Given the description of an element on the screen output the (x, y) to click on. 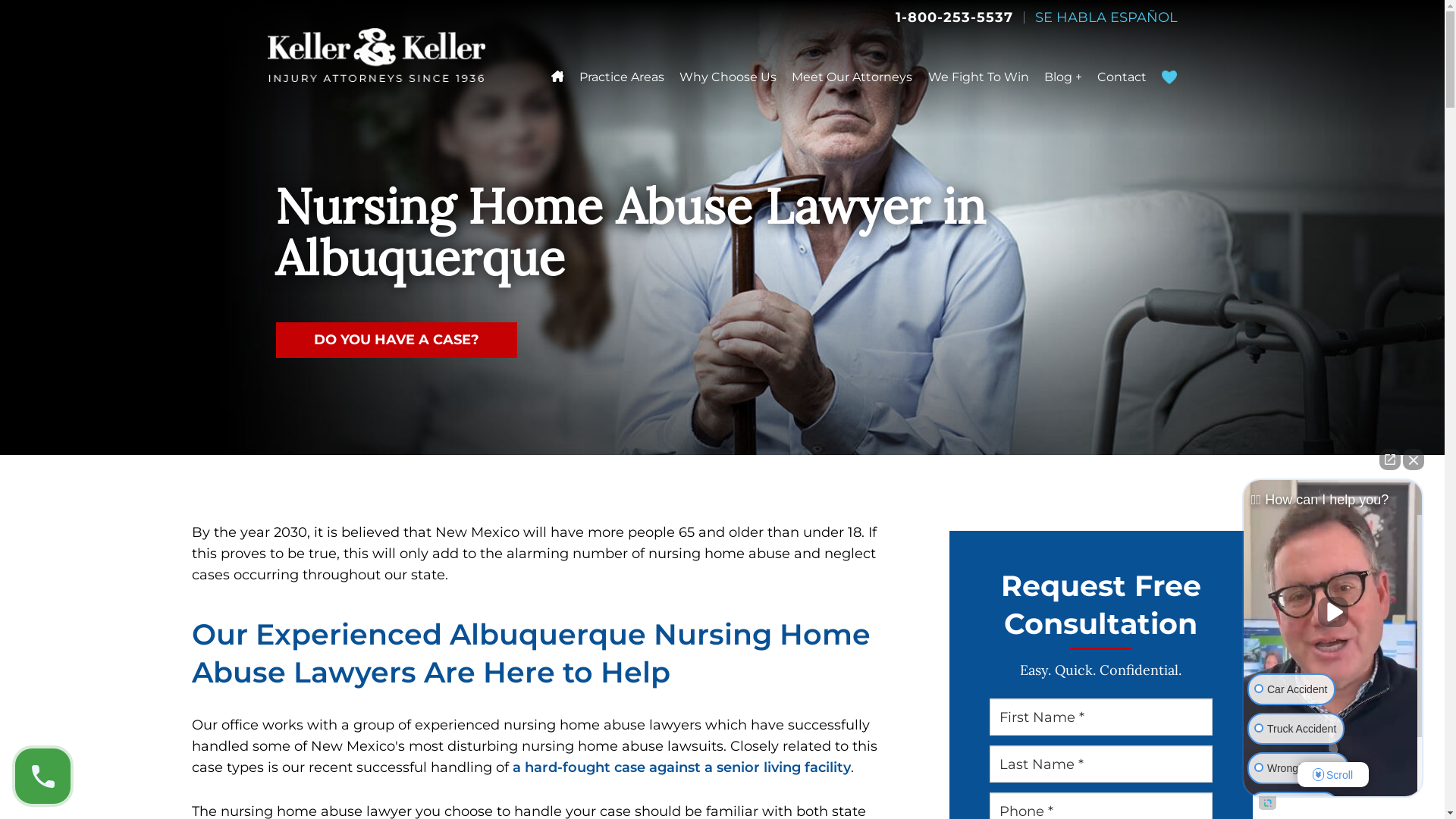
a hard-fought case against a senior living facility Element type: text (681, 767)
1-800-253-5537 Element type: text (953, 17)
Practice Areas Element type: text (621, 77)
Why Choose Us Element type: text (727, 77)
Blog + Element type: text (1063, 77)
Contact Element type: text (1121, 77)
DO YOU HAVE A CASE? Element type: text (395, 339)
Meet Our Attorneys Element type: text (851, 77)
We Fight To Win Element type: text (978, 77)
